Given the description of an element on the screen output the (x, y) to click on. 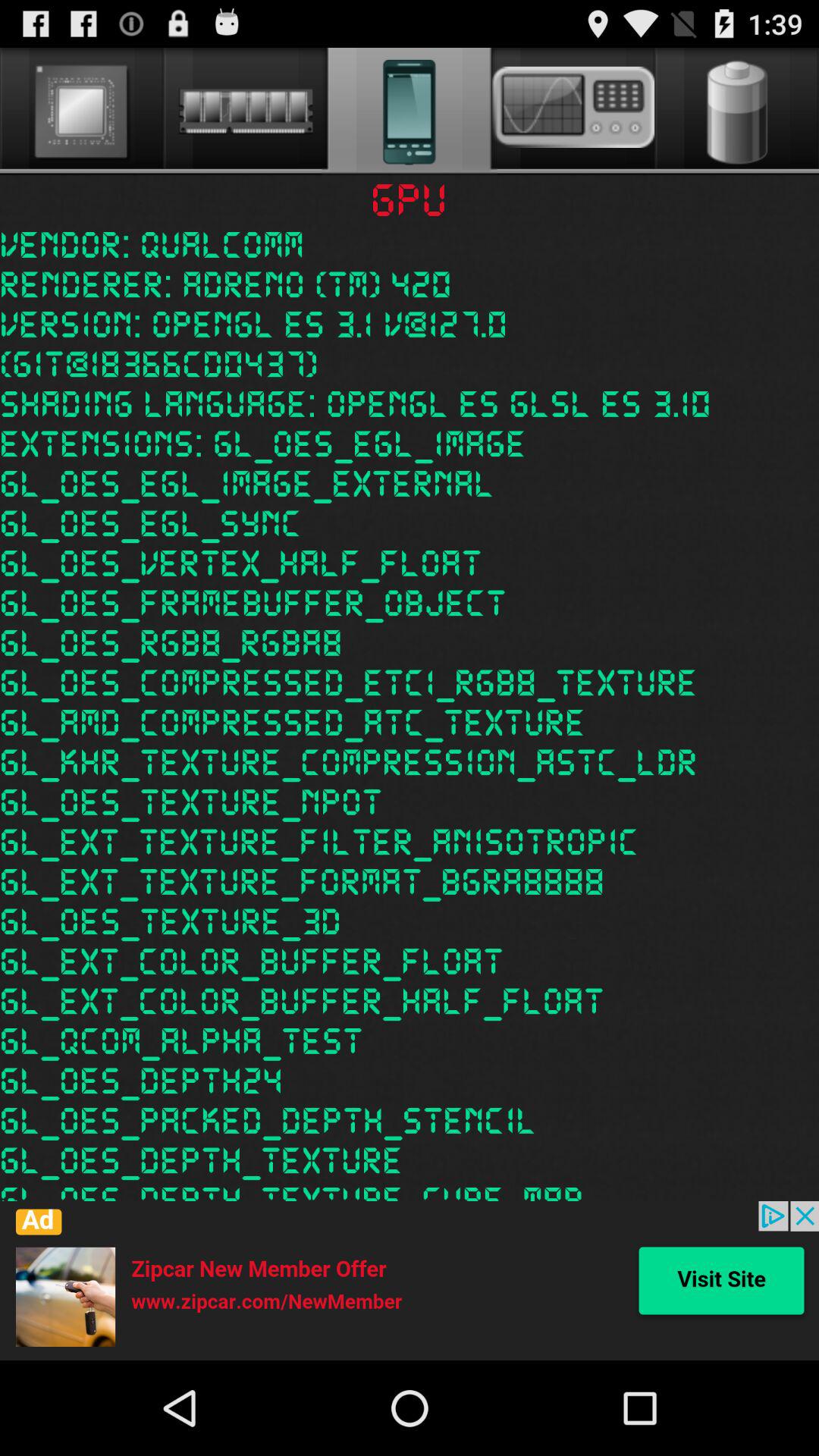
visualizar anncio (409, 1280)
